Given the description of an element on the screen output the (x, y) to click on. 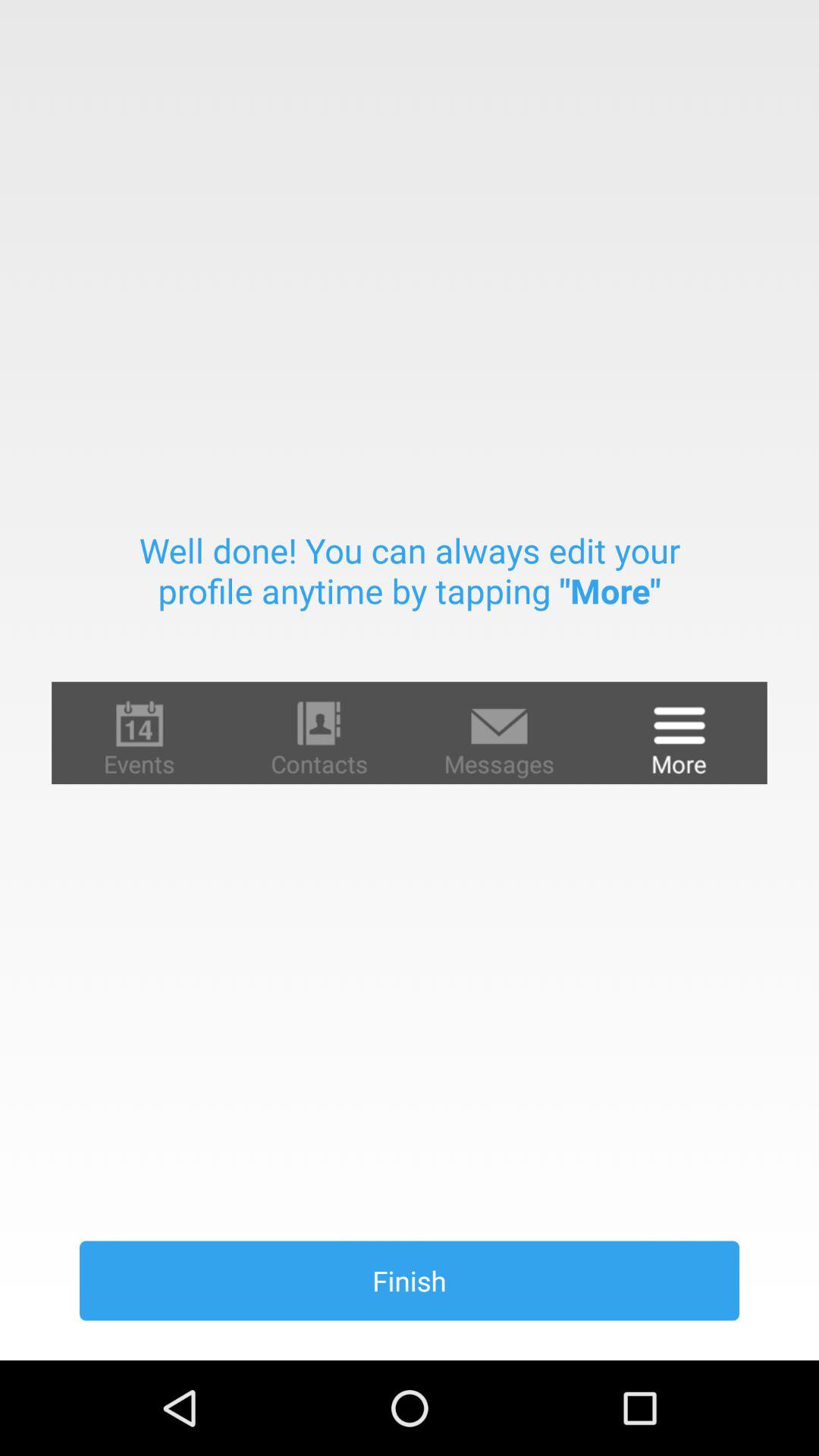
turn on finish icon (409, 1280)
